Given the description of an element on the screen output the (x, y) to click on. 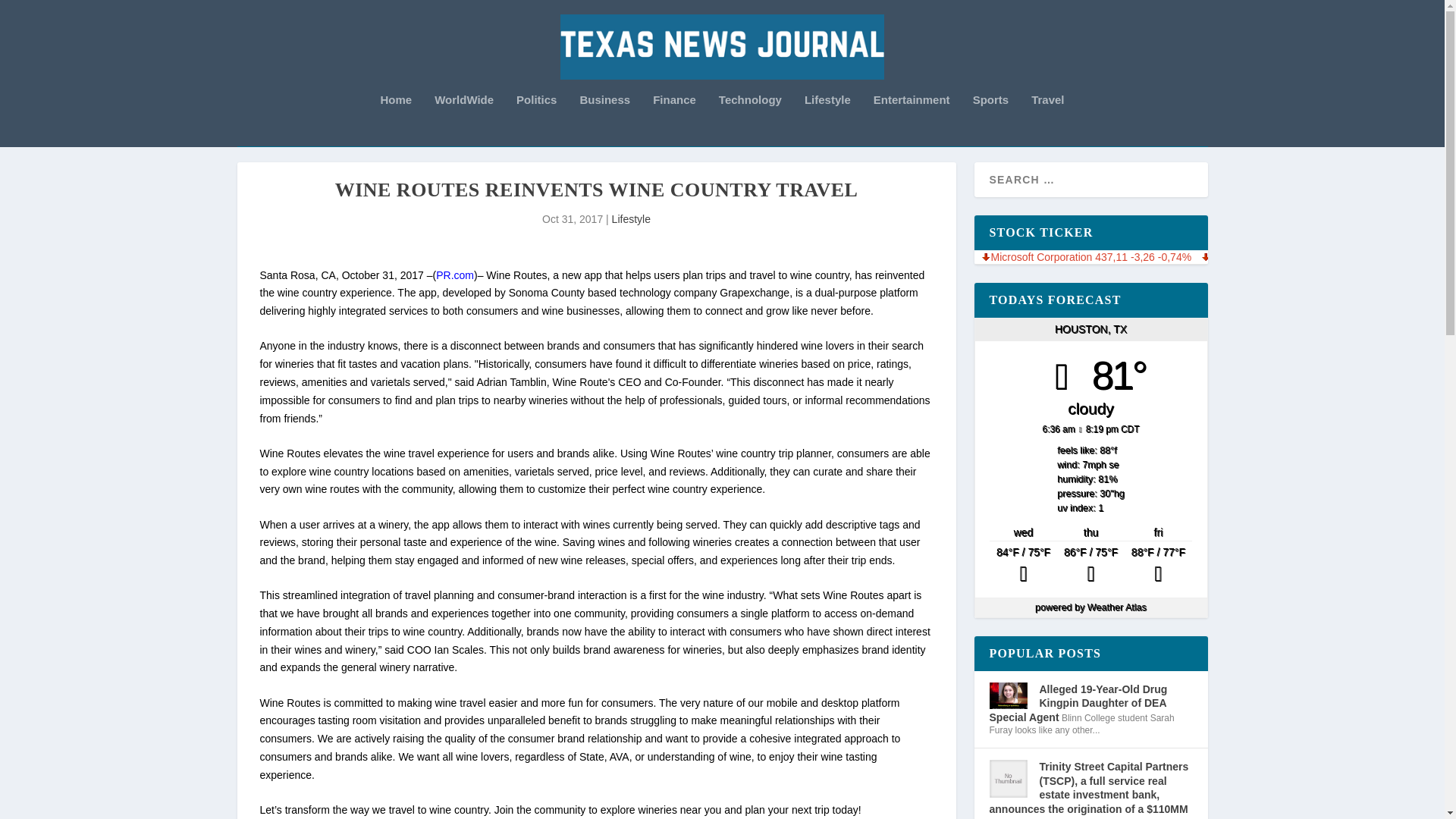
Lifestyle (630, 218)
PR.com (454, 275)
Technology (750, 120)
Business (604, 120)
Showers (1158, 566)
Entertainment (911, 120)
WorldWide (463, 120)
Rain (1023, 566)
